Given the description of an element on the screen output the (x, y) to click on. 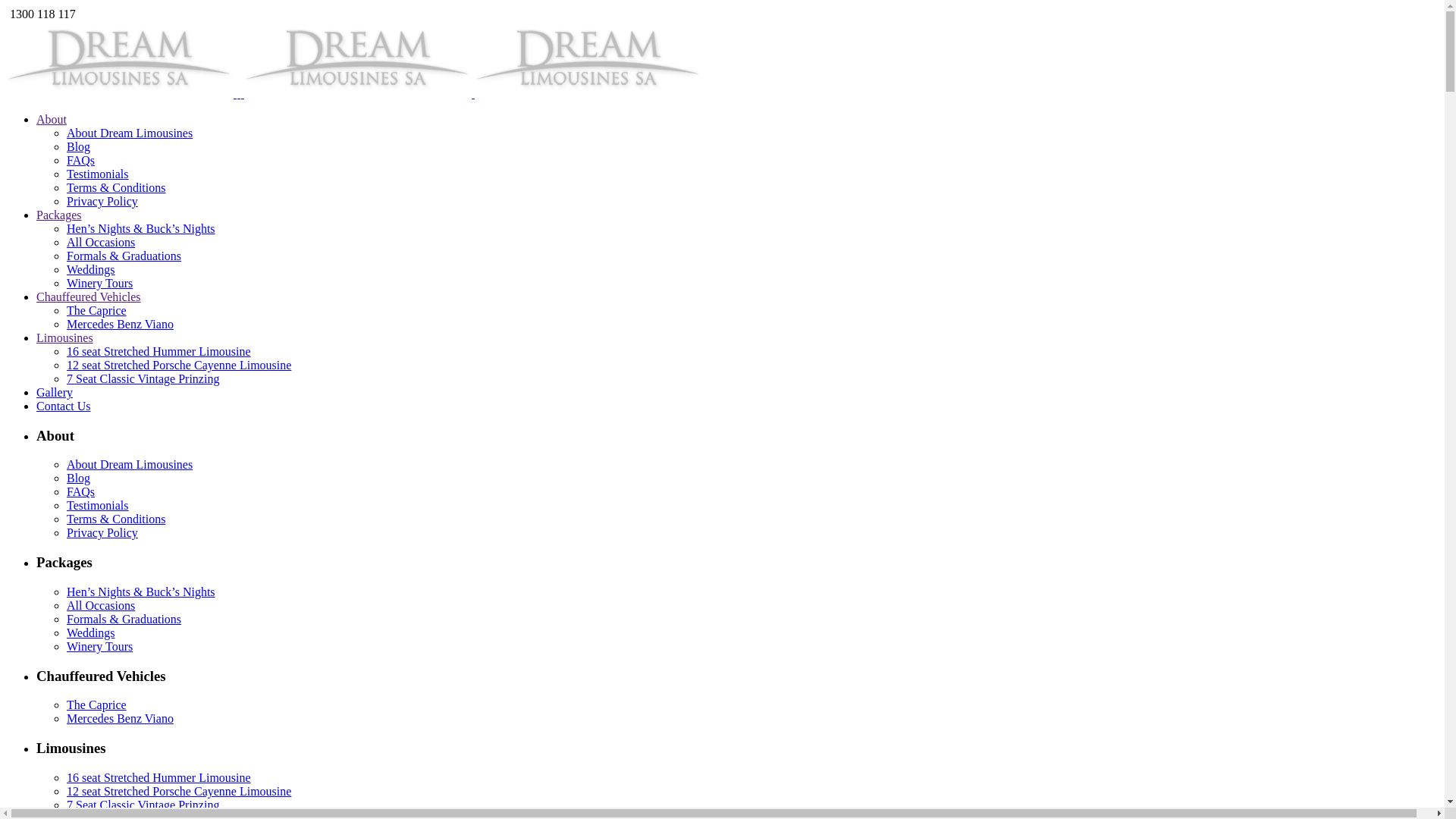
The Caprice Element type: text (96, 310)
Testimonials Element type: text (97, 173)
Blog Element type: text (78, 146)
The Caprice Element type: text (96, 704)
Weddings Element type: text (90, 269)
12 seat Stretched Porsche Cayenne Limousine Element type: text (178, 790)
7 Seat Classic Vintage Prinzing Element type: text (142, 378)
Testimonials Element type: text (97, 504)
Terms & Conditions Element type: text (115, 518)
16 seat Stretched Hummer Limousine Element type: text (158, 351)
Formals & Graduations Element type: text (123, 618)
All Occasions Element type: text (100, 241)
Mercedes Benz Viano Element type: text (119, 323)
Formals & Graduations Element type: text (123, 255)
Weddings Element type: text (90, 632)
Privacy Policy Element type: text (102, 532)
12 seat Stretched Porsche Cayenne Limousine Element type: text (178, 364)
Limousines Element type: text (64, 337)
About Element type: text (51, 118)
16 seat Stretched Hummer Limousine Element type: text (158, 777)
Chauffeured Vehicles Element type: text (88, 296)
Terms & Conditions Element type: text (115, 187)
All Occasions Element type: text (100, 605)
Gallery Element type: text (54, 391)
Winery Tours Element type: text (99, 646)
FAQs Element type: text (80, 159)
Mercedes Benz Viano Element type: text (119, 718)
Winery Tours Element type: text (99, 282)
Contact Us Element type: text (63, 405)
Blog Element type: text (78, 477)
7 Seat Classic Vintage Prinzing Element type: text (142, 804)
Packages Element type: text (58, 214)
About Dream Limousines Element type: text (129, 464)
About Dream Limousines Element type: text (129, 132)
FAQs Element type: text (80, 491)
Privacy Policy Element type: text (102, 200)
